Given the description of an element on the screen output the (x, y) to click on. 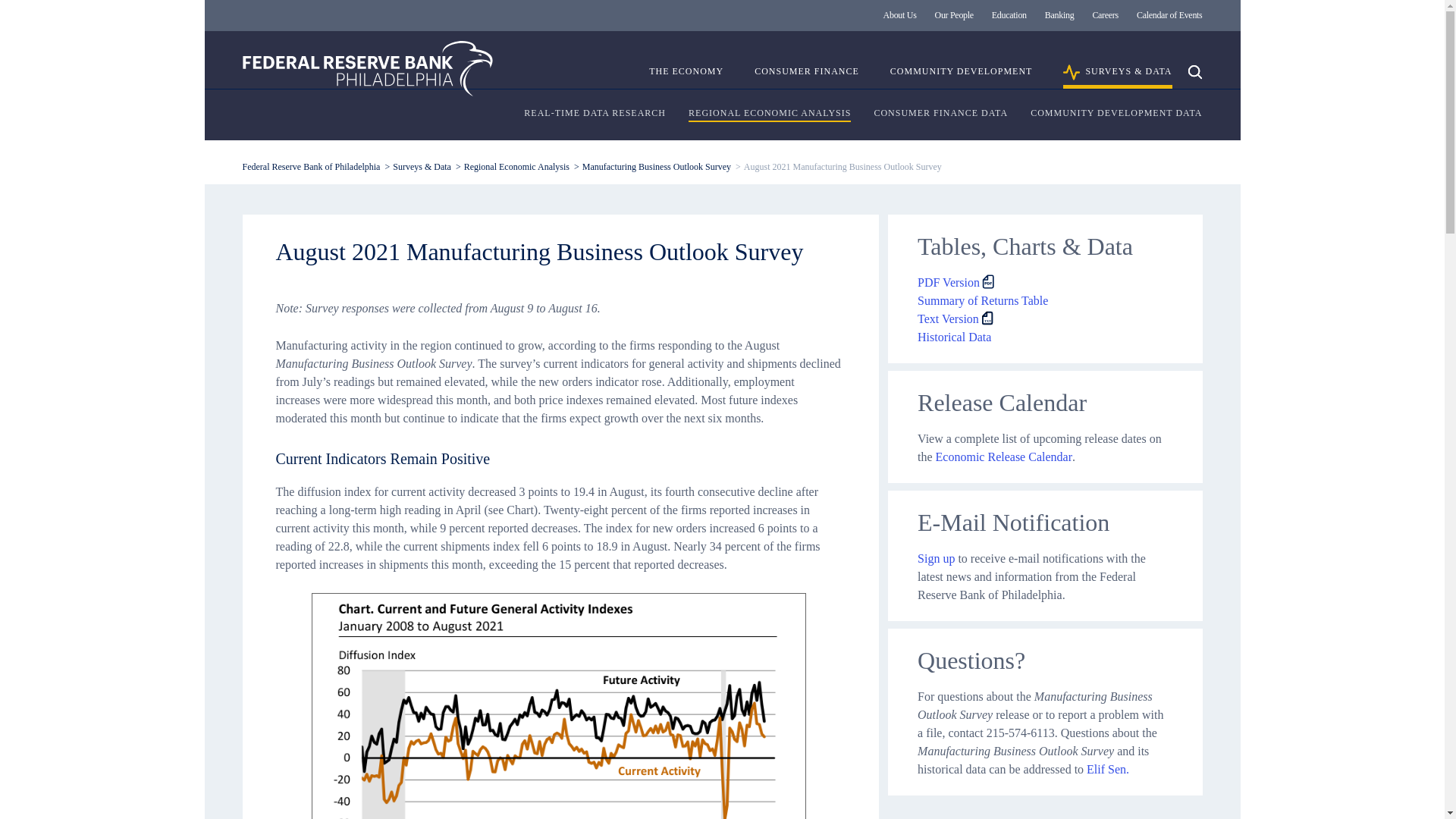
Federal Reserve Bank of Philadelphia (368, 67)
REAL-TIME DATA RESEARCH (594, 114)
Banking (1059, 15)
Calendar of Events (1169, 15)
Regional Economic Analysis (516, 166)
Our People (954, 15)
Federal Reserve Bank of Philadelphia (311, 166)
COMMUNITY DEVELOPMENT (960, 77)
Manufacturing Business Outlook Survey (656, 166)
COMMUNITY DEVELOPMENT DATA (1116, 114)
